Given the description of an element on the screen output the (x, y) to click on. 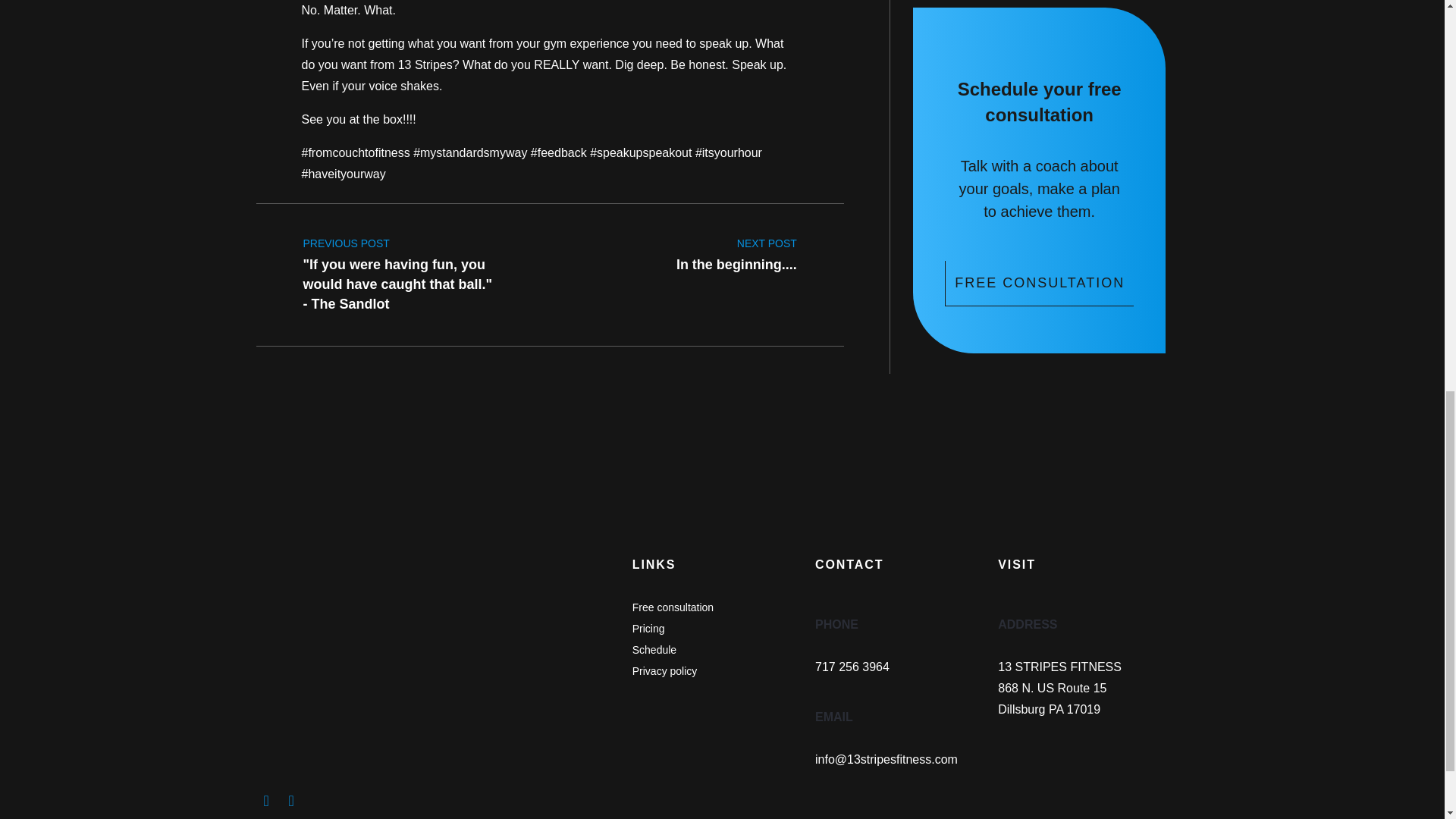
In the beginning.... (736, 249)
FREE CONSULTATION (736, 249)
